Given the description of an element on the screen output the (x, y) to click on. 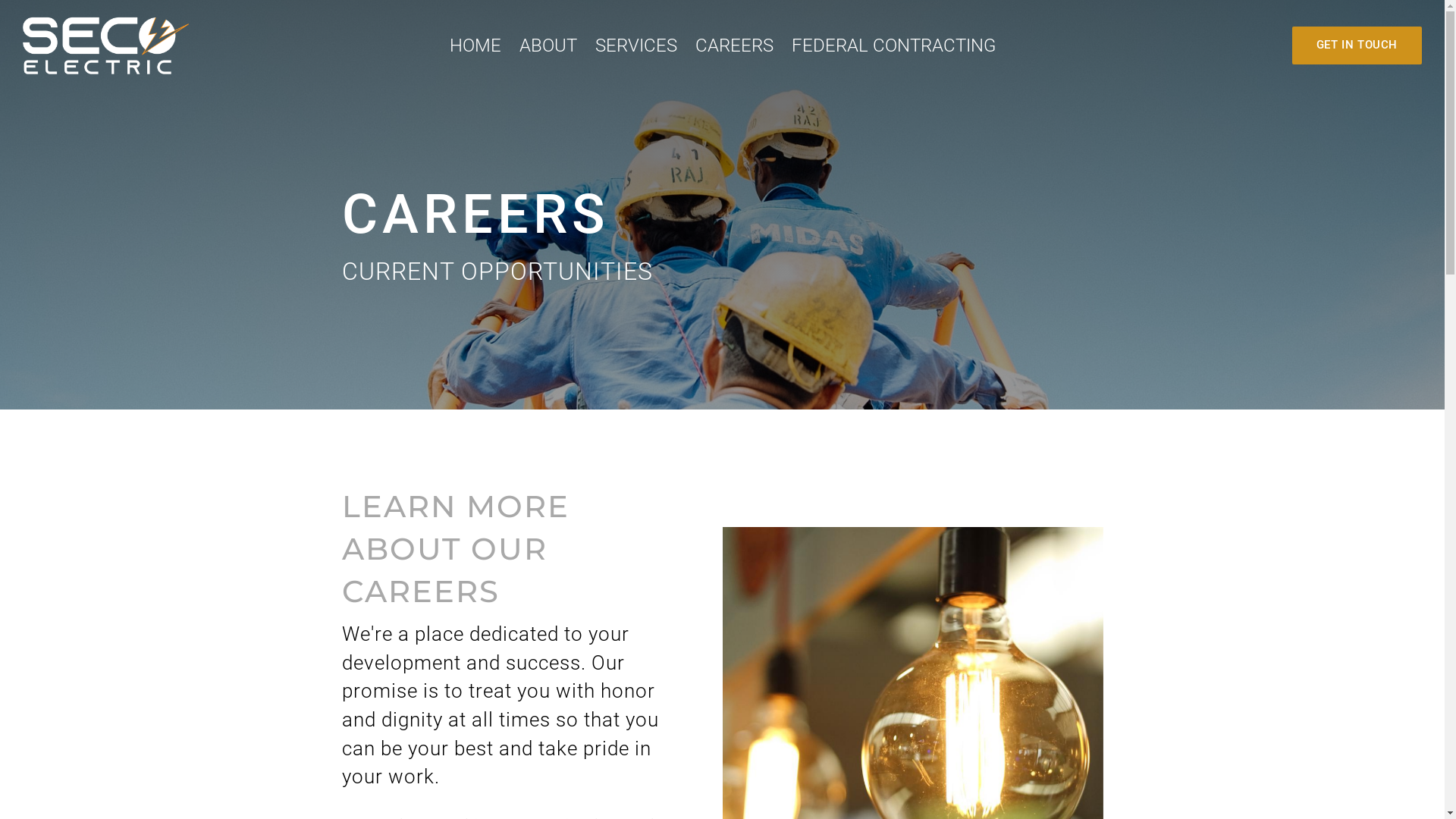
FEDERAL CONTRACTING Element type: text (893, 45)
GET IN TOUCH Element type: text (1356, 45)
HOME Element type: text (474, 45)
CAREERS Element type: text (733, 45)
ABOUT Element type: text (547, 45)
SERVICES Element type: text (635, 45)
